Given the description of an element on the screen output the (x, y) to click on. 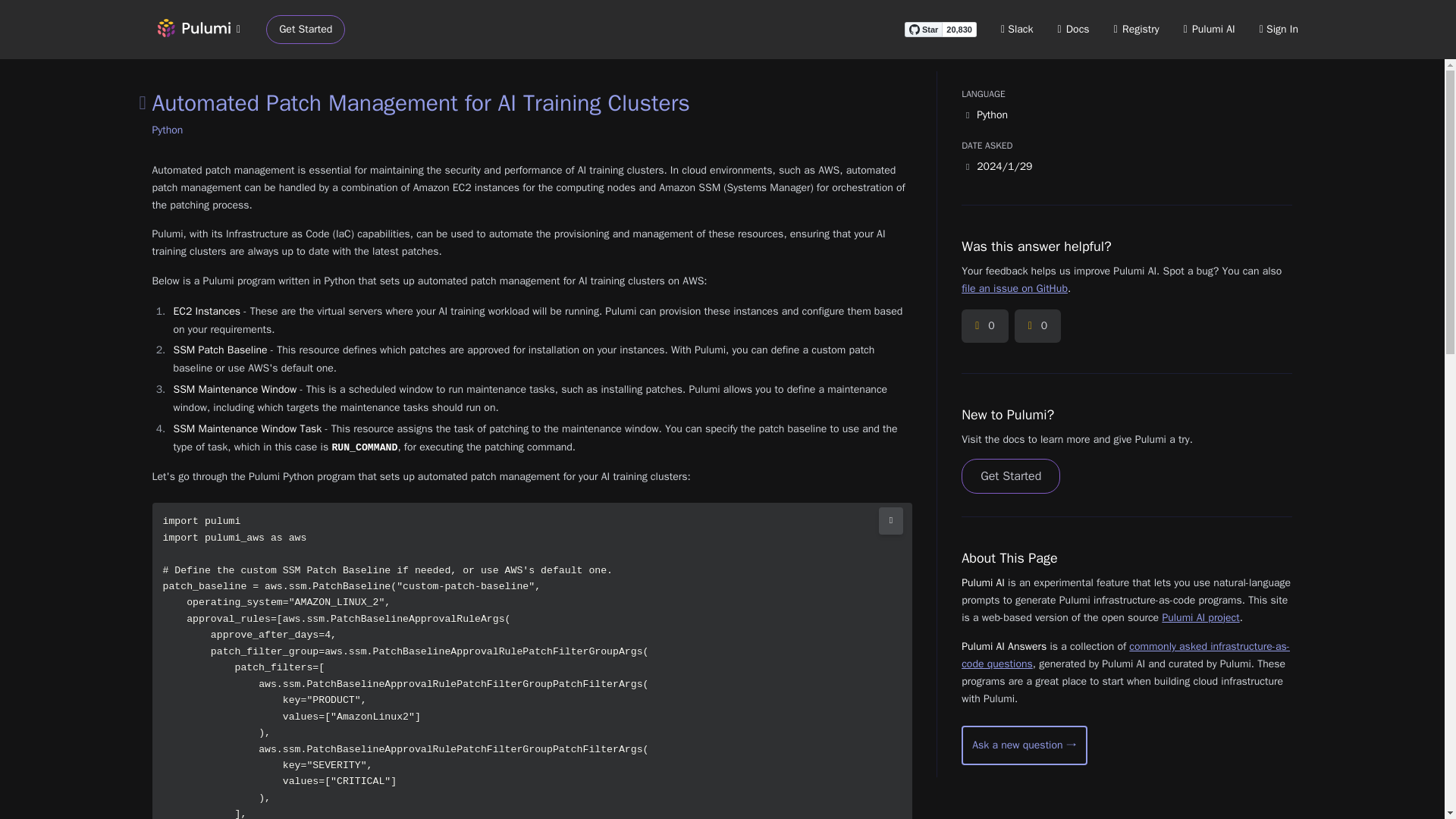
Docs (1073, 29)
Slack (1017, 29)
Registry (1135, 29)
Get Started (305, 29)
Sign In (1278, 29)
Downvote this answer (1037, 326)
Pulumi AI (1208, 29)
 Star (923, 29)
0 (1037, 326)
Get Started (1009, 475)
